Given the description of an element on the screen output the (x, y) to click on. 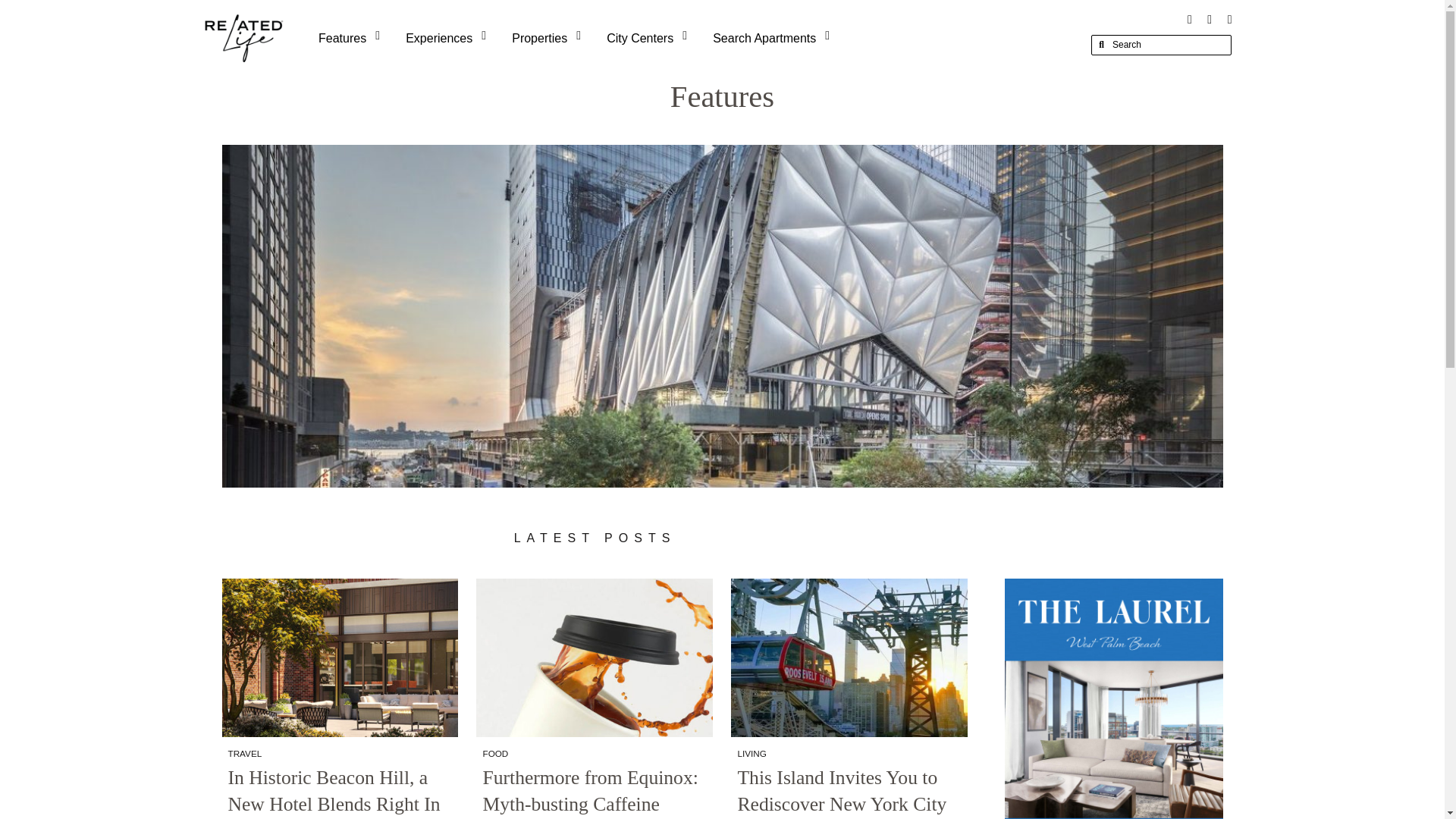
Search Apartments (774, 38)
Properties (549, 38)
Experiences (449, 38)
City Centers (649, 38)
In Historic Beacon Hill, a New Hotel Blends Right In (339, 791)
Furthermore from Equinox: Myth-busting Caffeine (593, 791)
Features (352, 38)
